Given the description of an element on the screen output the (x, y) to click on. 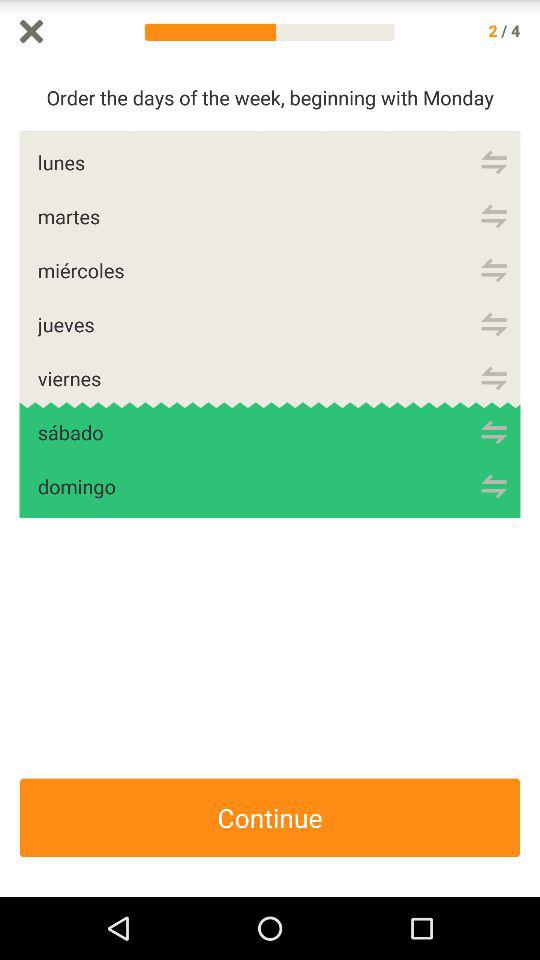
hold to change the position of items (494, 324)
